Given the description of an element on the screen output the (x, y) to click on. 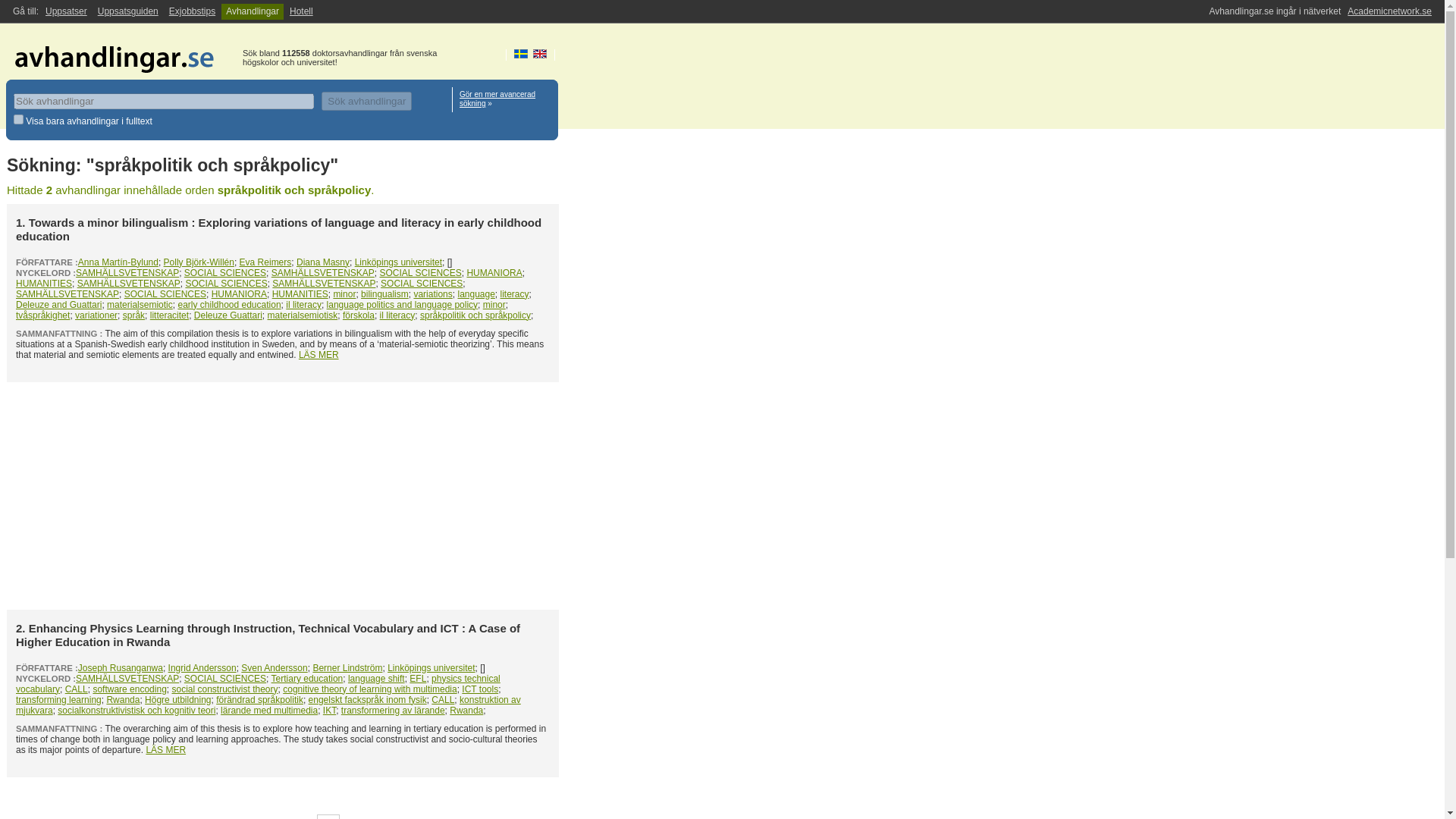
early childhood education (229, 304)
variations (432, 294)
literacy (514, 294)
Academicnetwork.se (1388, 11)
HUMANIORA (493, 272)
y (18, 119)
SOCIAL SCIENCES (421, 283)
minor (344, 294)
SOCIAL SCIENCES (225, 283)
Uppsatsguiden (128, 11)
